Given the description of an element on the screen output the (x, y) to click on. 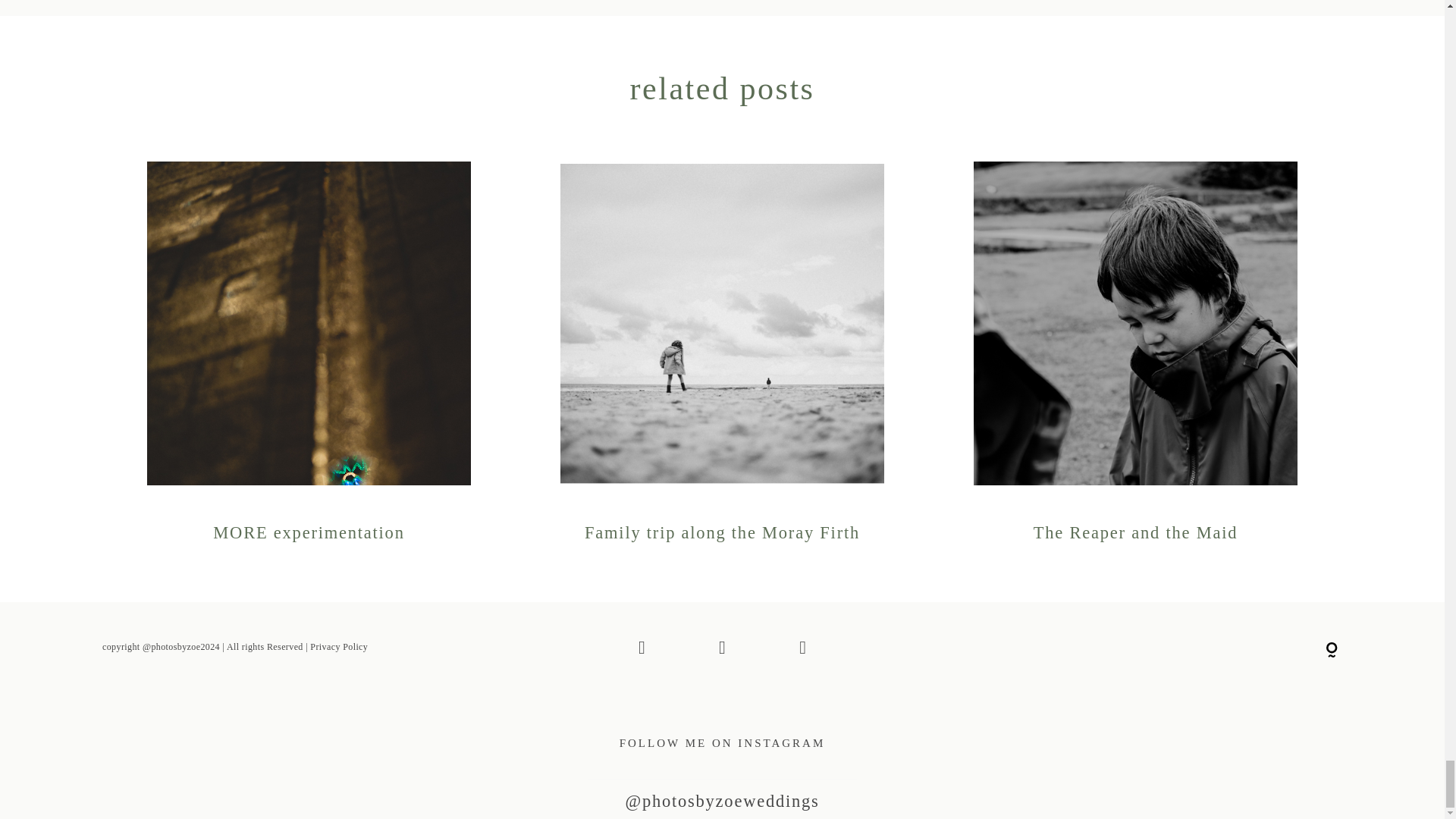
Sorry, your browser does not support inline SVG. (1331, 650)
